Given the description of an element on the screen output the (x, y) to click on. 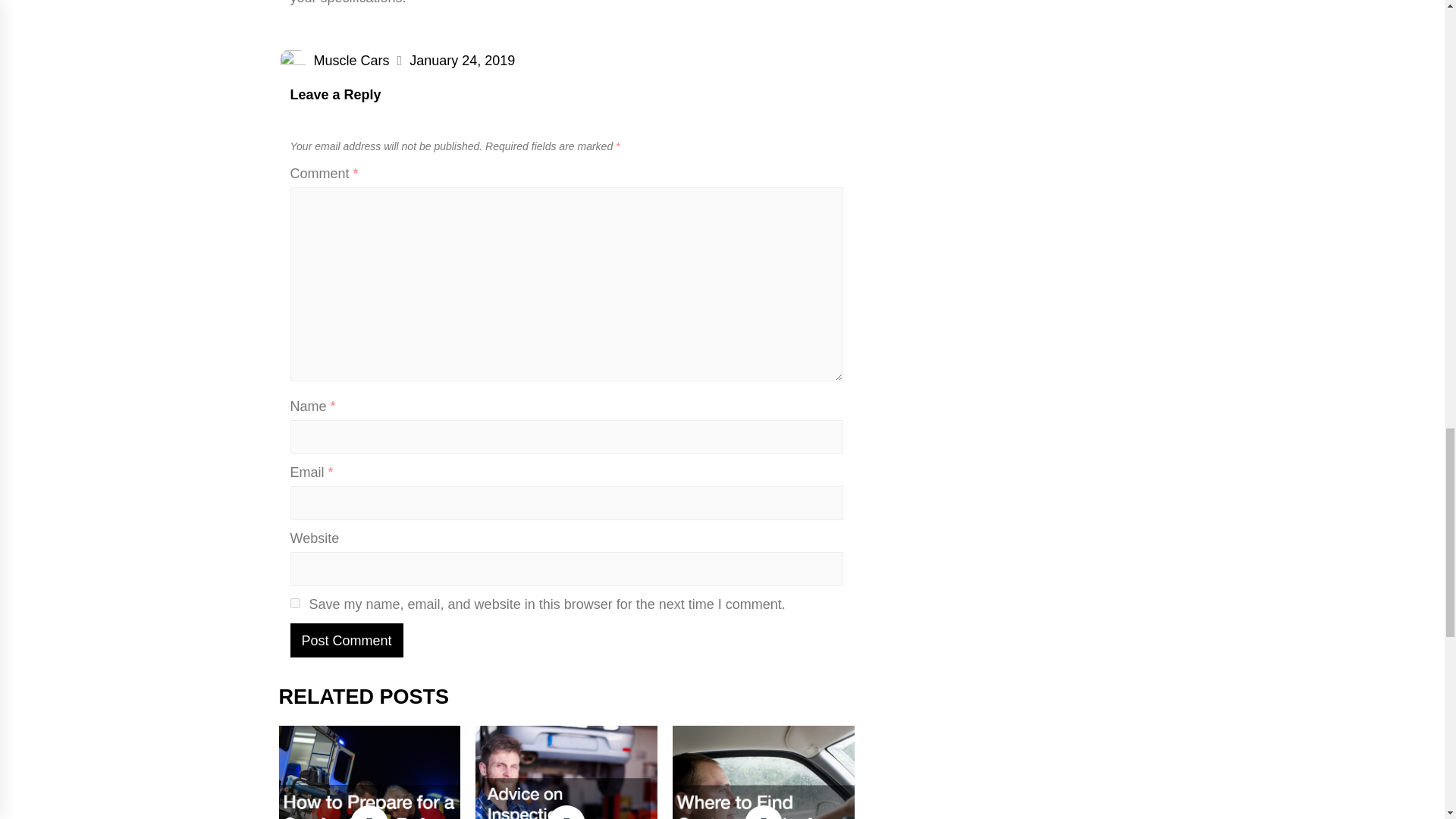
yes (294, 603)
Post Comment (346, 640)
January 24, 2019 (462, 60)
Post Comment (346, 640)
Muscle Cars (352, 60)
